Given the description of an element on the screen output the (x, y) to click on. 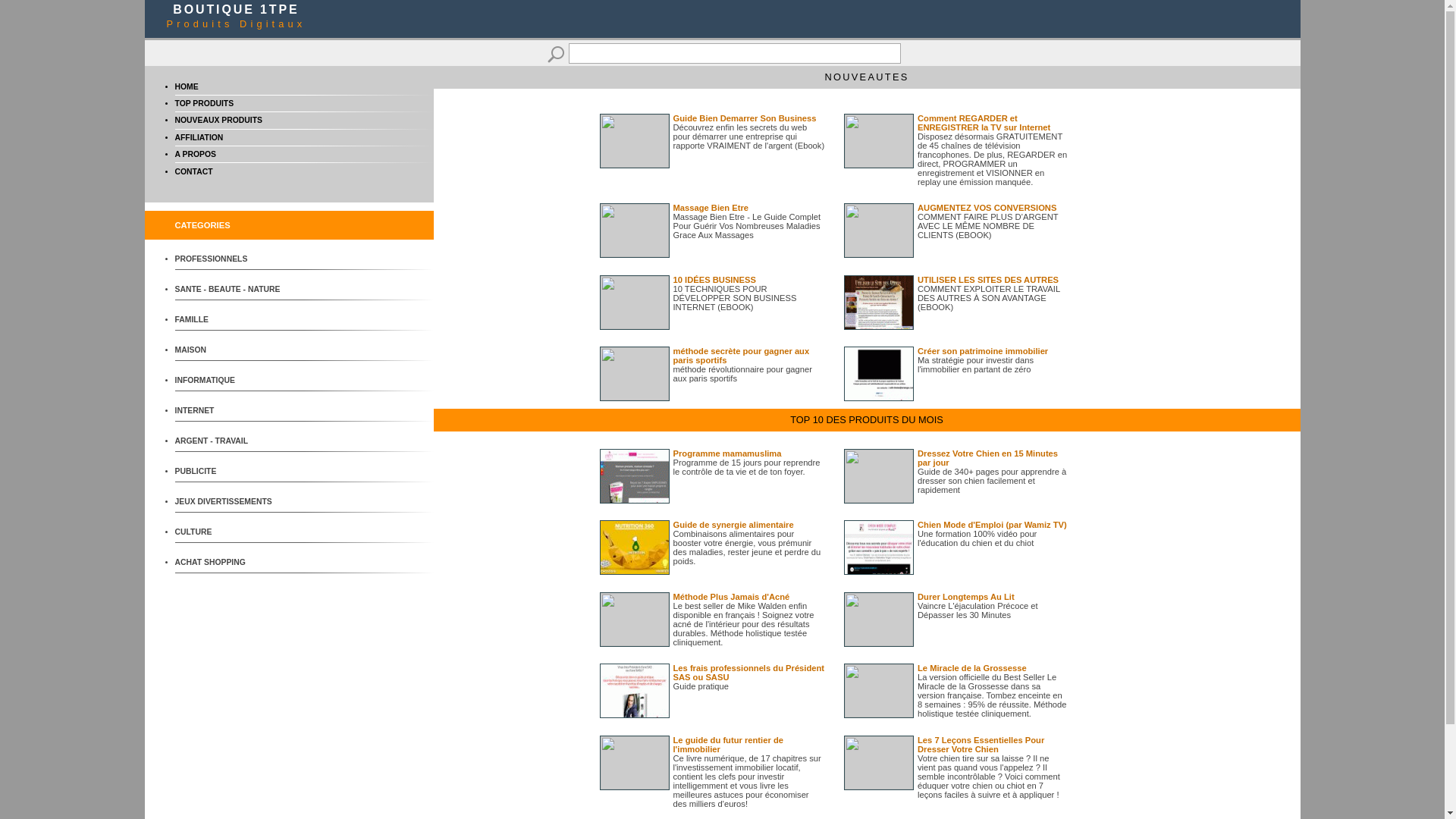
Programme mamamuslima Element type: text (727, 453)
INTERNET Element type: text (231, 410)
MAISON Element type: text (231, 349)
CONTACT Element type: text (193, 171)
Chien Mode d'Emploi (par Wamiz TV) Element type: text (991, 524)
Massage Bien Etre Element type: text (711, 207)
FAMILLE Element type: text (231, 319)
JEUX DIVERTISSEMENTS Element type: text (231, 501)
CULTURE Element type: text (231, 531)
UTILISER LES SITES DES AUTRES Element type: text (987, 279)
HOME Element type: text (185, 86)
PUBLICITE Element type: text (231, 471)
Le guide du futur rentier de l'immobilier Element type: text (728, 744)
Guide pratique Element type: text (700, 685)
AUGMENTEZ VOS CONVERSIONS Element type: text (986, 207)
Guide Bien Demarrer Son Business Element type: text (744, 117)
TOP PRODUITS Element type: text (203, 103)
PROFESSIONNELS Element type: text (231, 258)
A PROPOS Element type: text (194, 154)
Comment REGARDER et ENREGISTRER la TV sur Internet Element type: text (983, 122)
Durer Longtemps Au Lit Element type: text (965, 596)
ARGENT - TRAVAIL Element type: text (231, 440)
Le Miracle de la Grossesse Element type: text (971, 667)
SANTE - BEAUTE - NATURE Element type: text (231, 289)
Dressez Votre Chien en 15 Minutes par jour Element type: text (987, 457)
Guide de synergie alimentaire Element type: text (733, 524)
ACHAT SHOPPING Element type: text (231, 562)
INFORMATIQUE Element type: text (231, 380)
NOUVEAUX PRODUITS Element type: text (217, 120)
AFFILIATION Element type: text (198, 137)
